Given the description of an element on the screen output the (x, y) to click on. 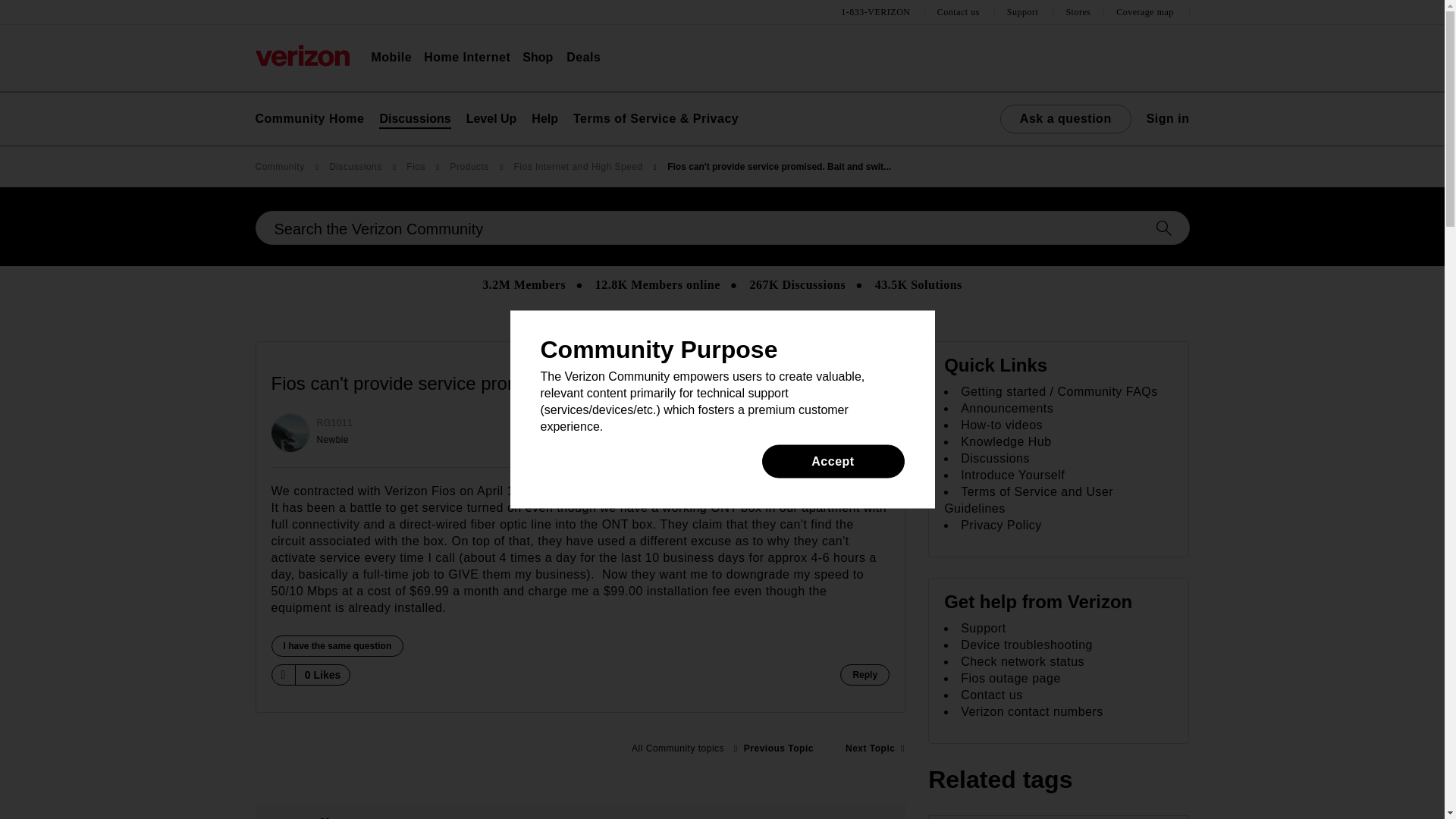
1-833-VERIZON (876, 12)
Fios Internet and High Speed (677, 748)
Cloud media server (773, 748)
The total number of likes this post has received. (322, 674)
Shop (537, 57)
Coverage map (1146, 12)
RG1011 (289, 433)
Click here if you had a similar experience (337, 645)
Stores (1078, 12)
Contact us (959, 12)
Home Internet (467, 57)
Search (721, 227)
Click here to give likes to this post. (282, 674)
Verizon Home Page (301, 55)
